Given the description of an element on the screen output the (x, y) to click on. 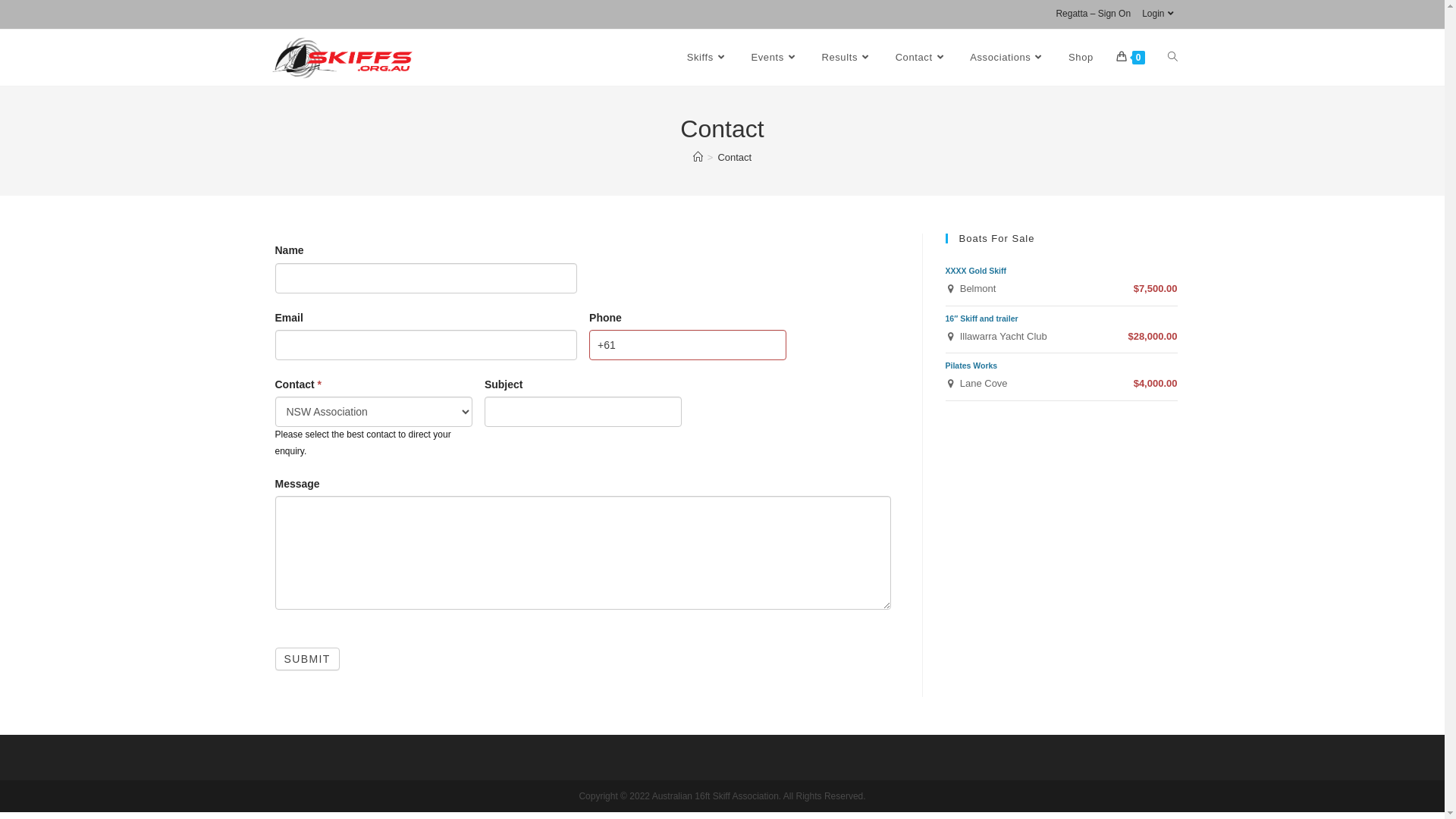
SUBMIT Element type: text (306, 658)
Login Element type: text (1159, 14)
Events Element type: text (775, 57)
Associations Element type: text (1007, 57)
Contact Element type: text (734, 157)
Contact Element type: text (921, 57)
Shop Element type: text (1080, 57)
XXXX Gold Skiff Element type: text (975, 270)
Results Element type: text (846, 57)
0 Element type: text (1130, 57)
Pilates Works Element type: text (970, 365)
Skiffs Element type: text (707, 57)
